Given the description of an element on the screen output the (x, y) to click on. 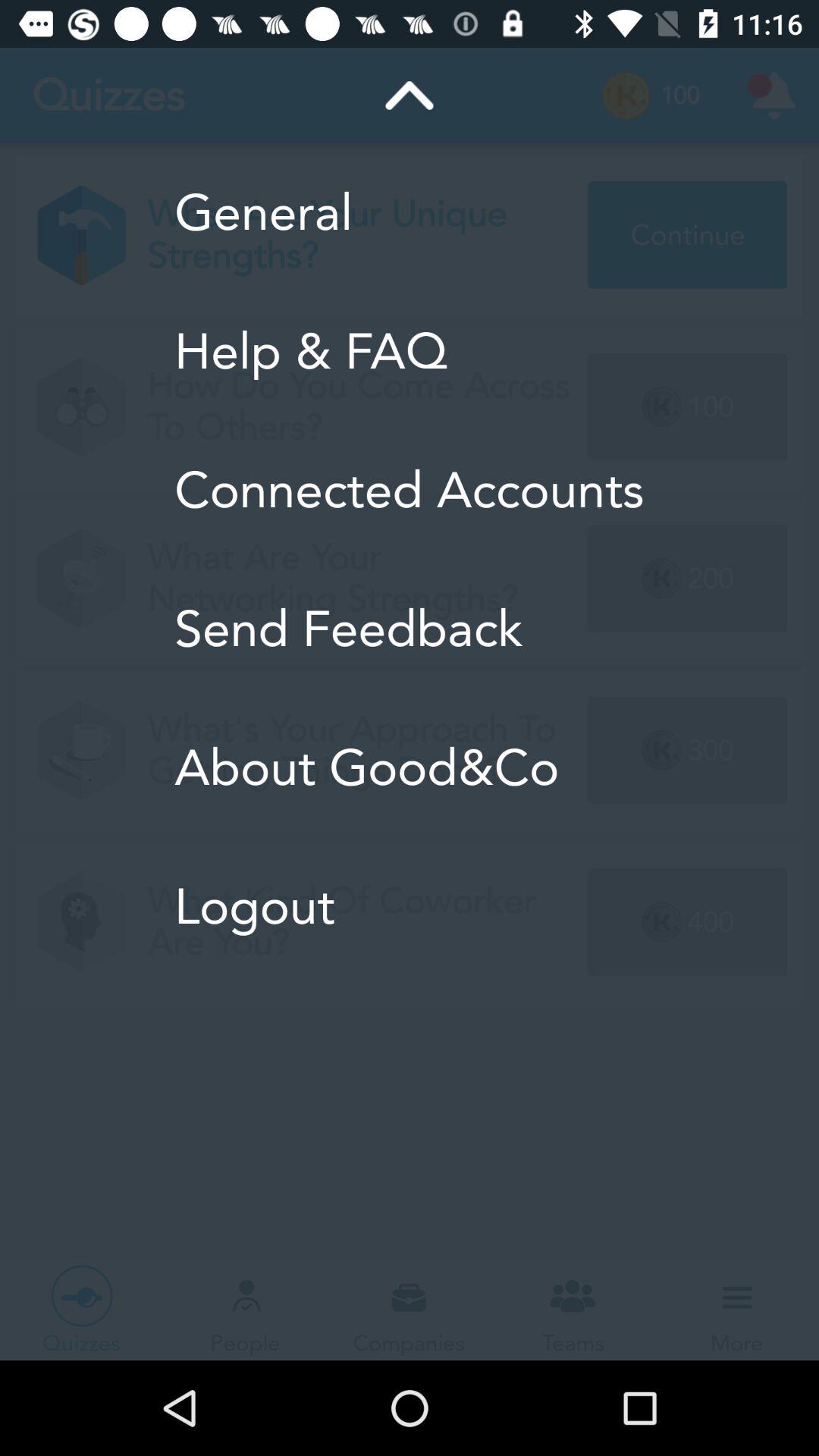
tap the item below the send feedback (408, 767)
